Given the description of an element on the screen output the (x, y) to click on. 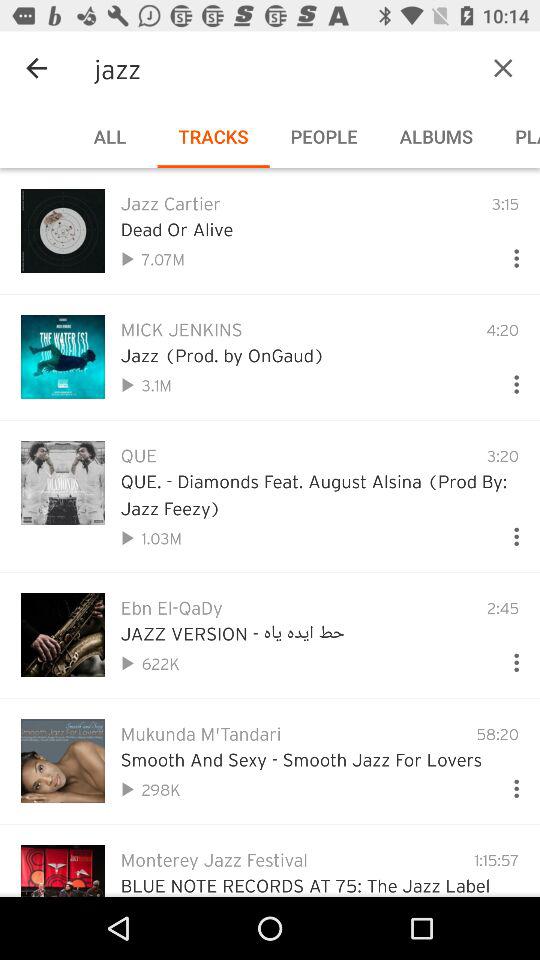
share your song via email or to a contact (508, 254)
